Given the description of an element on the screen output the (x, y) to click on. 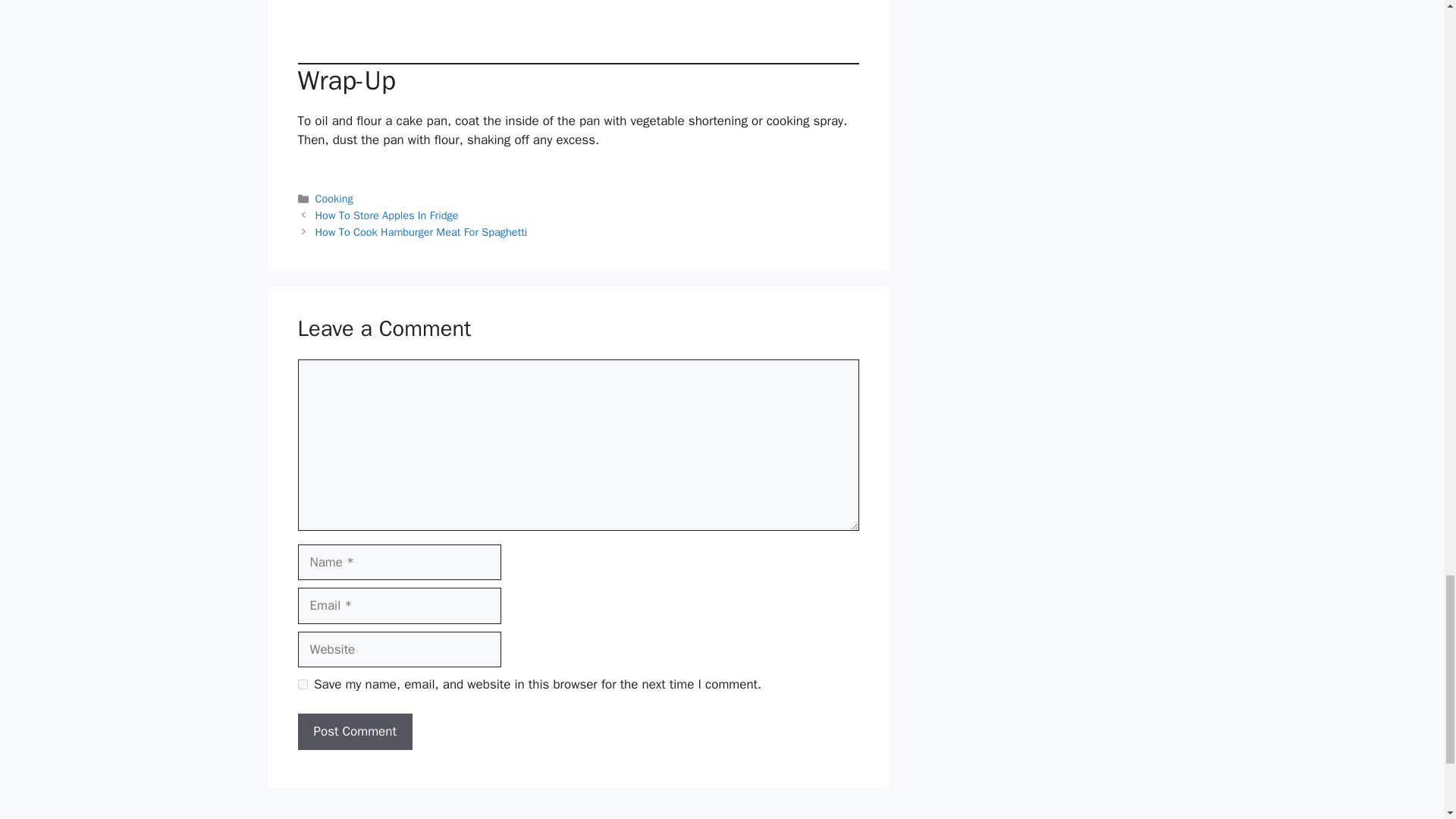
How To Store Apples In Fridge (386, 214)
Post Comment (354, 731)
yes (302, 684)
Post Comment (354, 731)
Cooking (334, 198)
How To Cook Hamburger Meat For Spaghetti (421, 232)
